Given the description of an element on the screen output the (x, y) to click on. 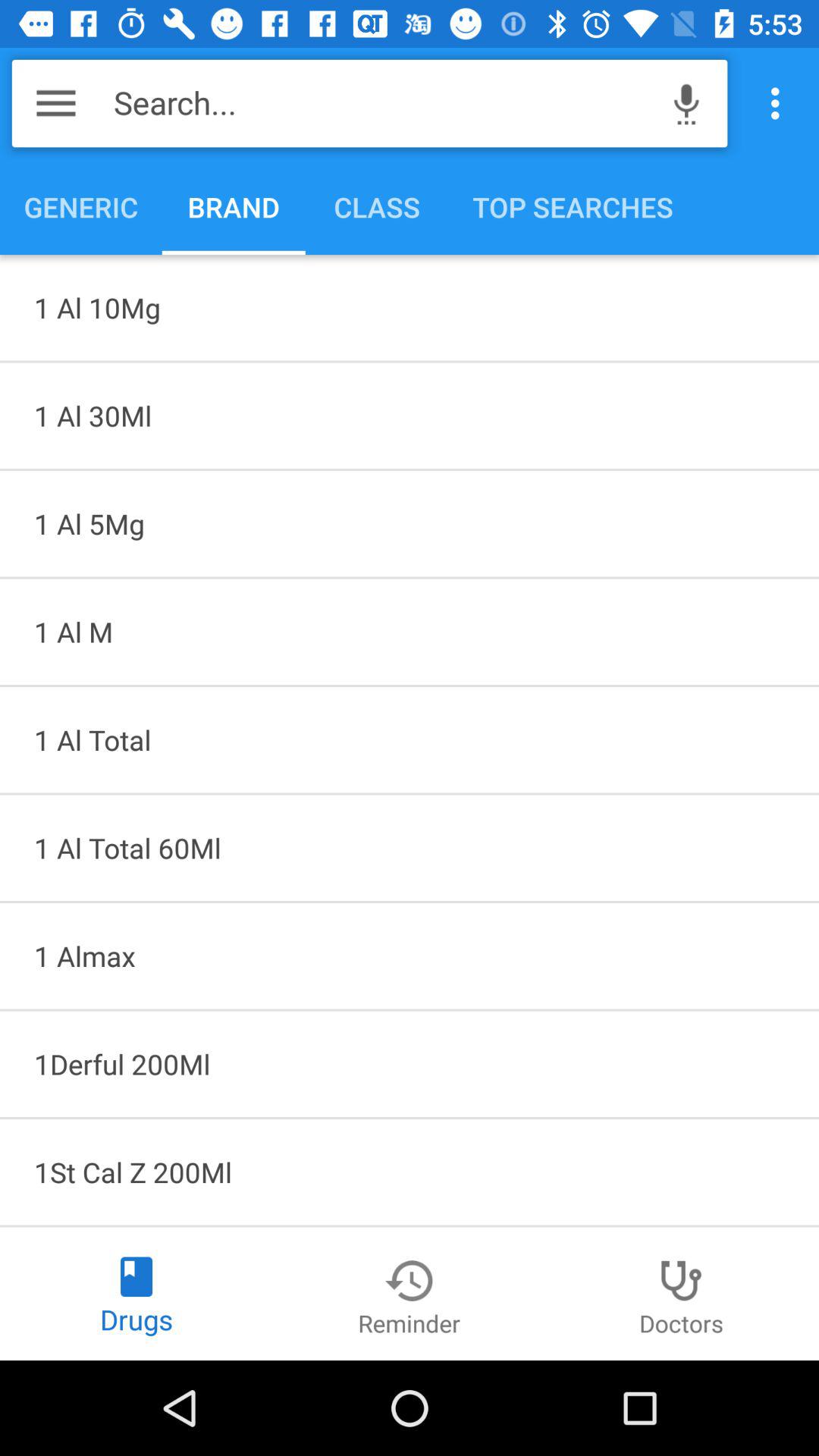
launch the item above generic (383, 103)
